Given the description of an element on the screen output the (x, y) to click on. 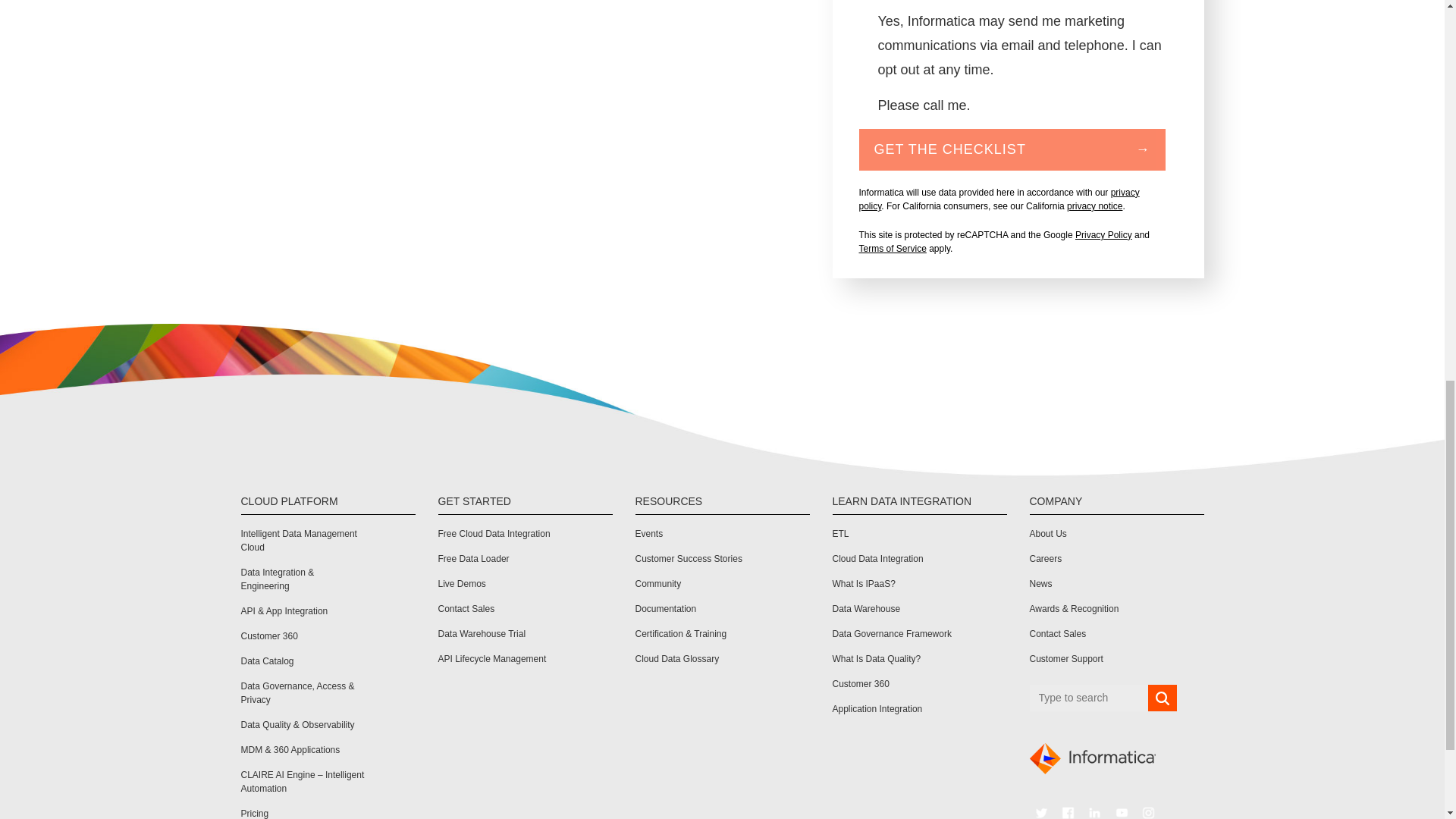
Terms of Service (892, 248)
Privacy Policy (1103, 235)
Search (1162, 698)
privacy notice (1094, 205)
Insert a query. Press enter to send (1088, 697)
privacy policy (998, 199)
